Given the description of an element on the screen output the (x, y) to click on. 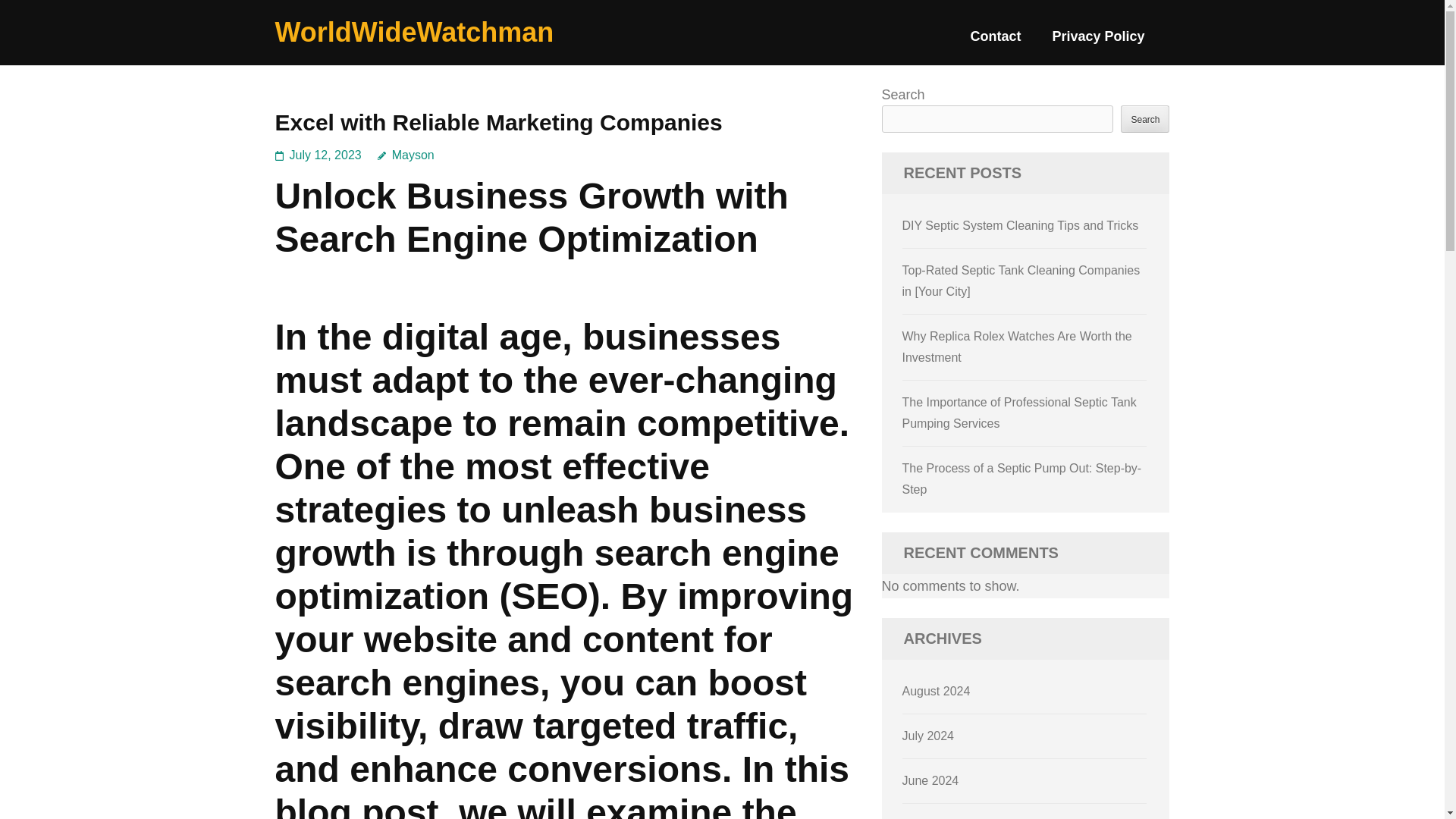
Search (1145, 118)
Contact (994, 42)
The Process of a Septic Pump Out: Step-by-Step (1021, 478)
DIY Septic System Cleaning Tips and Tricks (1020, 225)
July 2024 (928, 735)
Mayson (405, 154)
June 2024 (930, 780)
August 2024 (936, 690)
The Importance of Professional Septic Tank Pumping Services (1019, 412)
Privacy Policy (1097, 42)
